Given the description of an element on the screen output the (x, y) to click on. 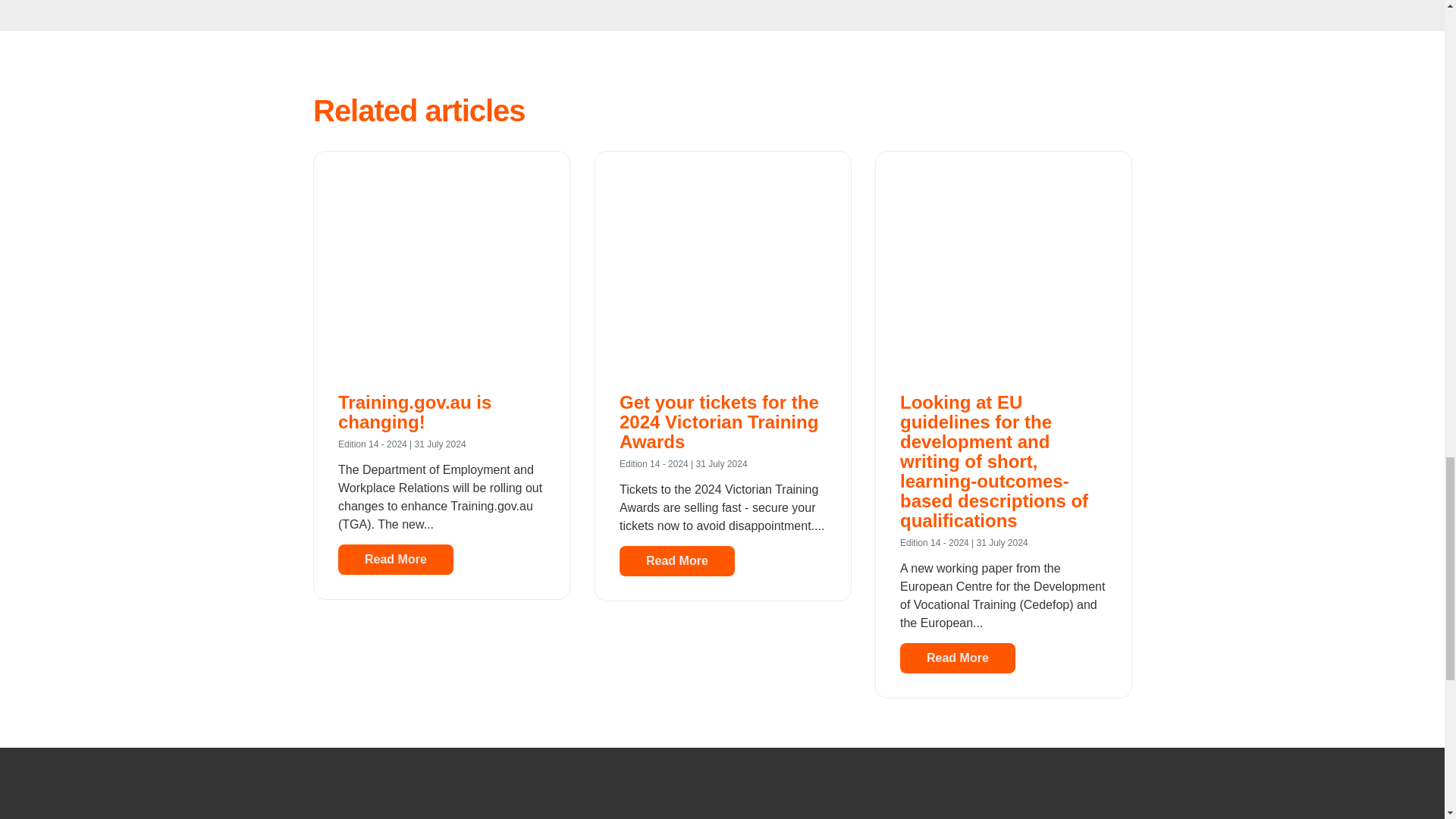
Training.gov.au is changing! (414, 413)
Training.gov.au is changing! (441, 265)
Get your tickets for the 2024 Victorian Training Awards (721, 265)
Read More (957, 658)
Read More (676, 561)
Get your tickets for the 2024 Victorian Training Awards (718, 422)
Read More (395, 560)
